Given the description of an element on the screen output the (x, y) to click on. 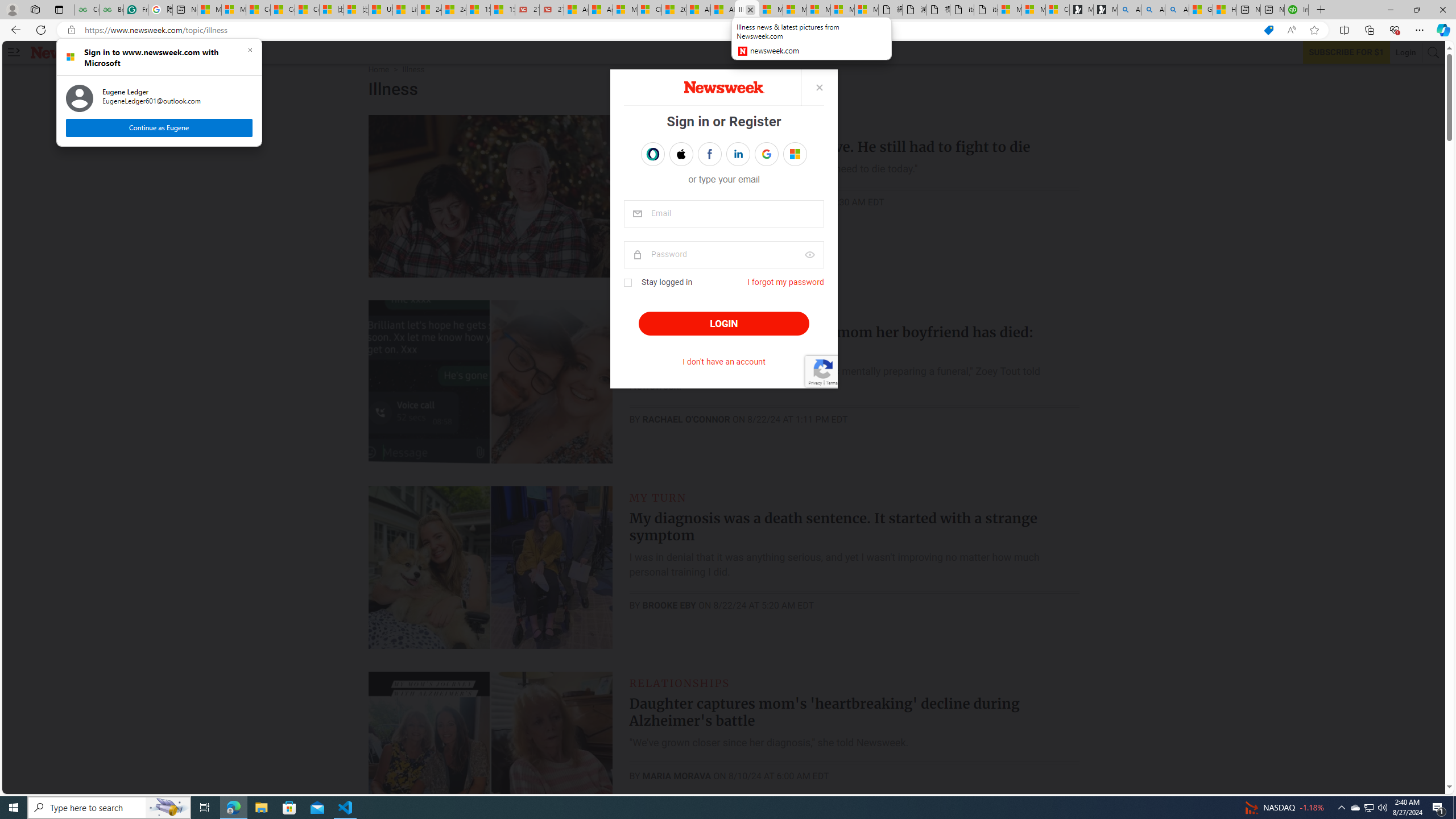
USA TODAY - MSN (380, 9)
Subscribe to our service (1346, 52)
I don't have an account (723, 362)
LOGIN (723, 323)
21 Movies That Outdid the Books They Were Based On (551, 9)
Lifestyle - MSN (404, 9)
Terms (831, 382)
Eugene (786, 153)
Running applications (717, 807)
20 Ways to Boost Your Protein Intake at Every Meal (673, 9)
